Given the description of an element on the screen output the (x, y) to click on. 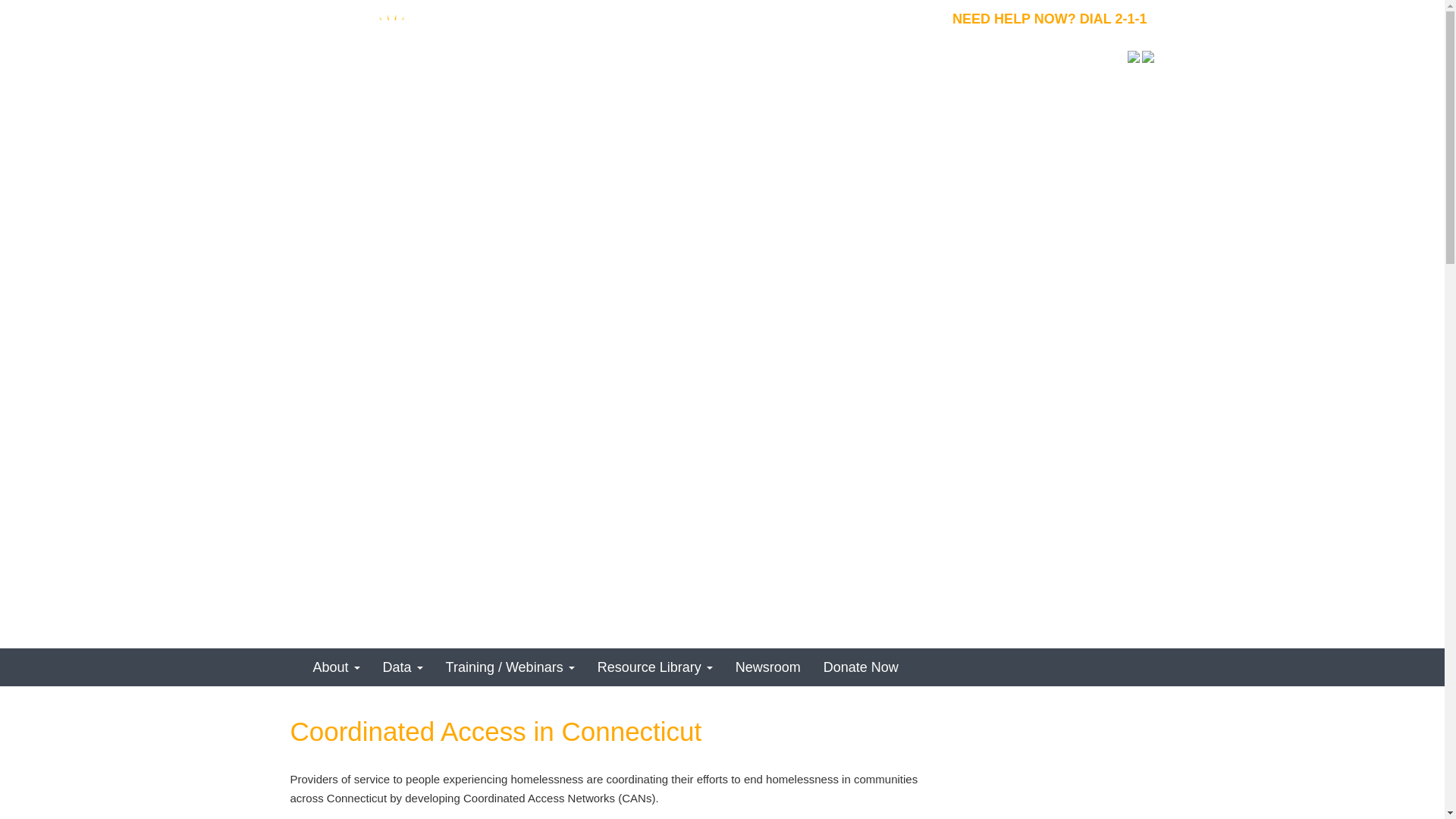
Need Help Now? Dial 2-1-1 (1049, 18)
About (336, 667)
Data (402, 667)
Data (402, 667)
Newsroom (767, 667)
About (336, 667)
Resource Library (654, 667)
NEED HELP NOW? DIAL 2-1-1 (1049, 18)
Resource Library (654, 667)
Donate Now (861, 667)
